Given the description of an element on the screen output the (x, y) to click on. 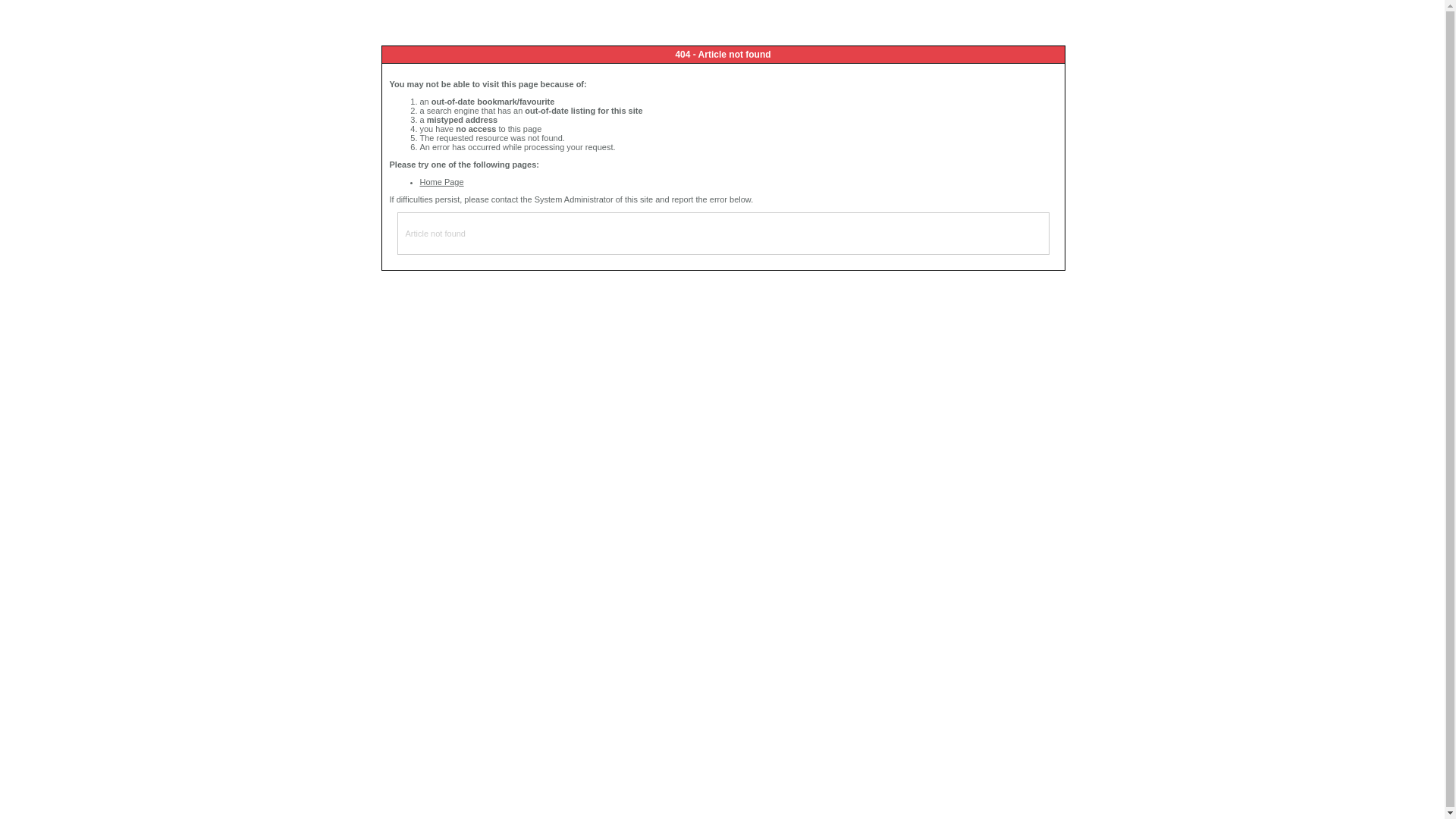
Home Page Element type: text (442, 181)
